Given the description of an element on the screen output the (x, y) to click on. 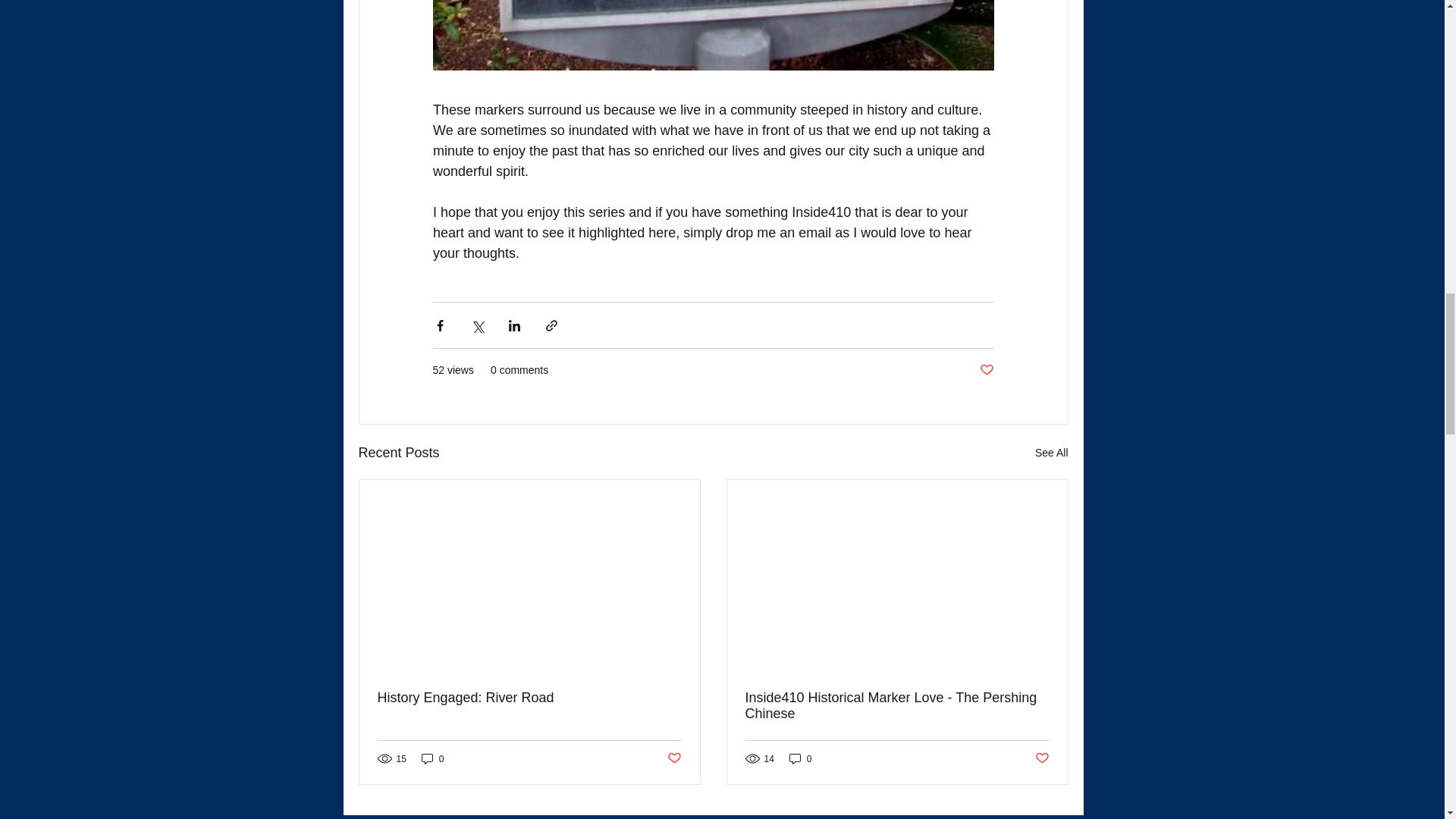
Inside410 Historical Marker Love - The Pershing Chinese (896, 705)
Post not marked as liked (1040, 758)
0 (432, 758)
Post not marked as liked (986, 370)
See All (1051, 453)
0 (800, 758)
Post not marked as liked (673, 758)
History Engaged: River Road (529, 697)
